Given the description of an element on the screen output the (x, y) to click on. 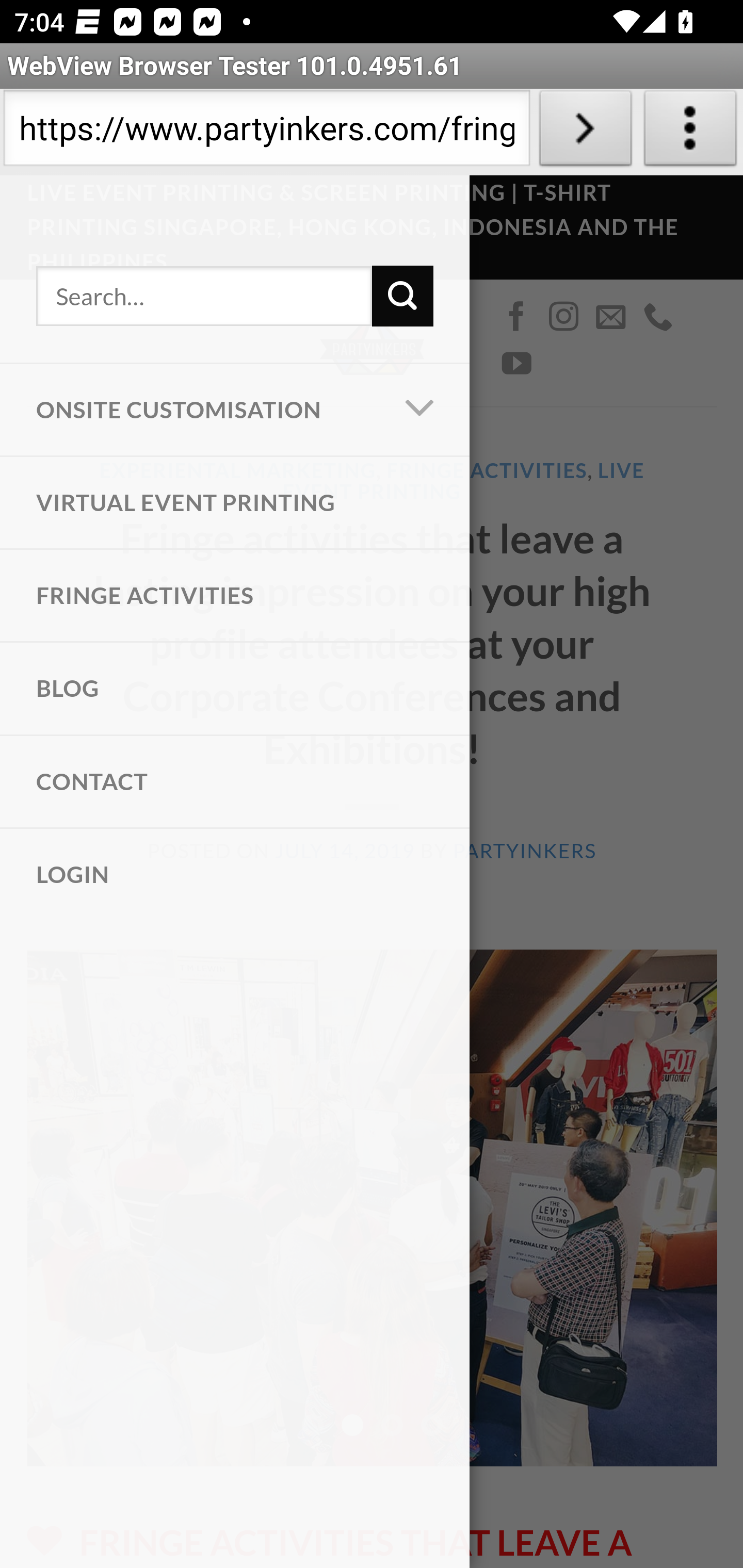
Load URL (585, 132)
About WebView (690, 132)
Submit (402, 295)
ONSITE CUSTOMISATION (190, 409)
 (420, 409)
VIRTUAL EVENT PRINTING (234, 502)
FRINGE ACTIVITIES (234, 595)
BLOG (234, 688)
CONTACT (234, 782)
LOGIN (234, 874)
